Given the description of an element on the screen output the (x, y) to click on. 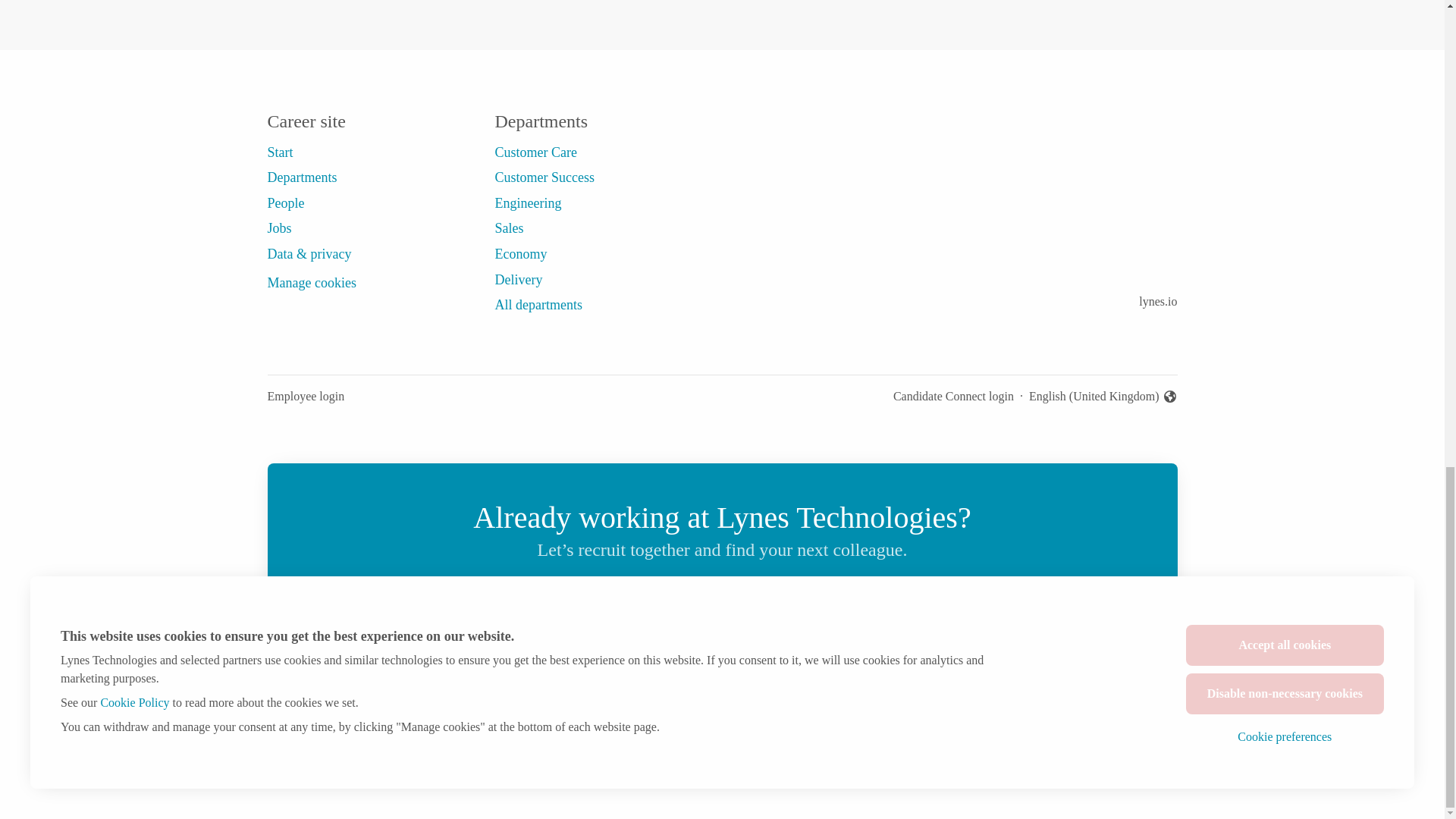
Engineering (527, 202)
Delivery (518, 279)
lynes.io (1157, 301)
Departments (301, 177)
Pelle (908, 676)
Manage cookies (310, 282)
Filip (982, 676)
Candidate Connect login (953, 396)
Anton (685, 676)
Sales (508, 228)
